Given the description of an element on the screen output the (x, y) to click on. 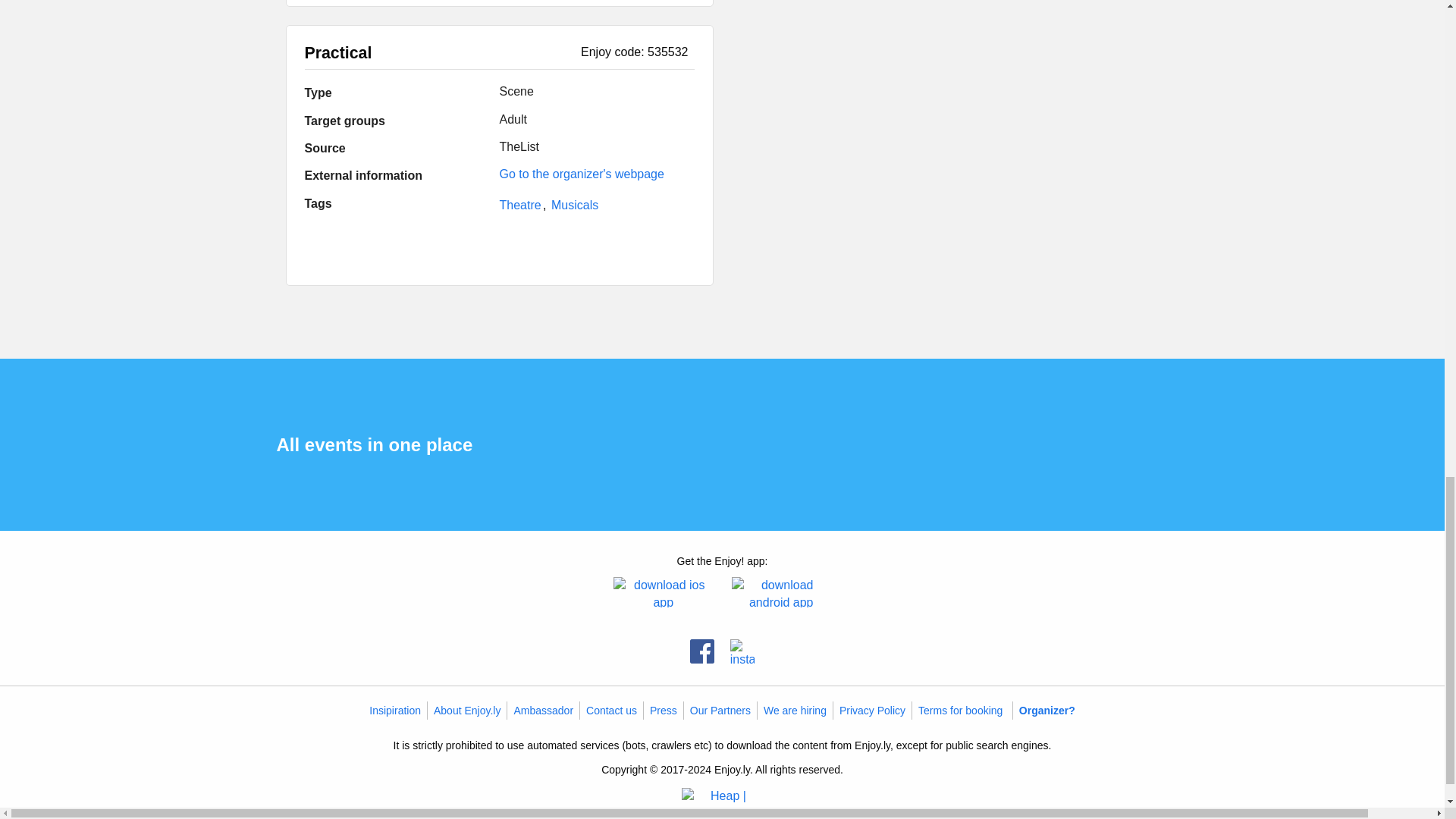
Privacy Policy (872, 710)
Activities tagged withTheatre (521, 205)
Theatre (521, 205)
Go to the organizer's webpage (581, 173)
We are hiring (794, 710)
Terms for booking (960, 710)
Press (663, 710)
Contact us (611, 710)
Organizer? (1047, 710)
Activities tagged withMusicals (574, 205)
Our Partners (720, 710)
Ambassador (543, 710)
Musicals (574, 205)
About Enjoy.ly (466, 710)
Insipiration (394, 710)
